Given the description of an element on the screen output the (x, y) to click on. 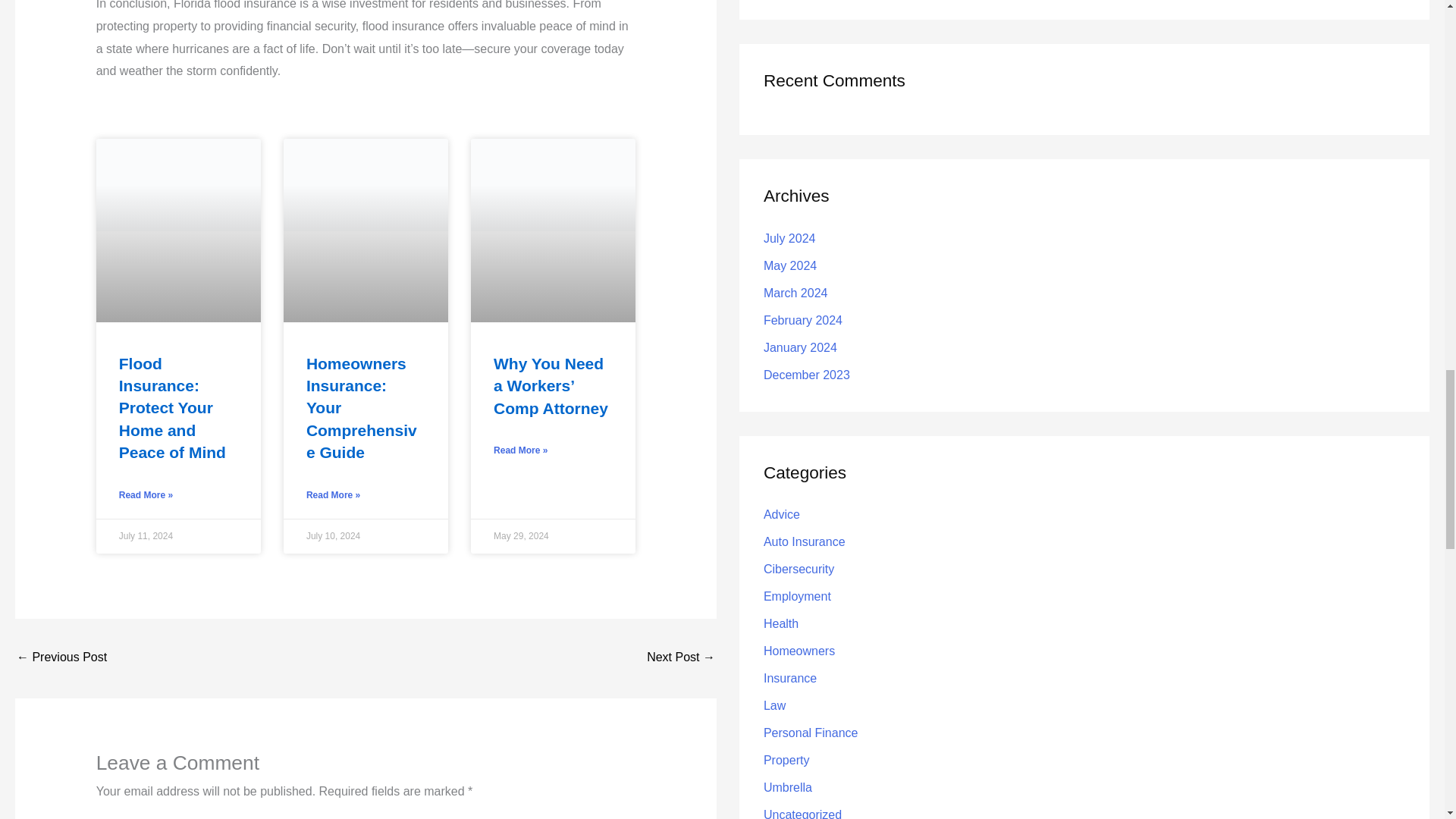
Flood Insurance: Protect Your Home and Peace of Mind (172, 407)
Homeowners Insurance: Your Comprehensive Guide (360, 407)
Worker's Comp for Small Businesses: What You Need to Know (61, 658)
Umbrella Insurance Coverage: A Guide for Smart Coverage. (680, 658)
